Given the description of an element on the screen output the (x, y) to click on. 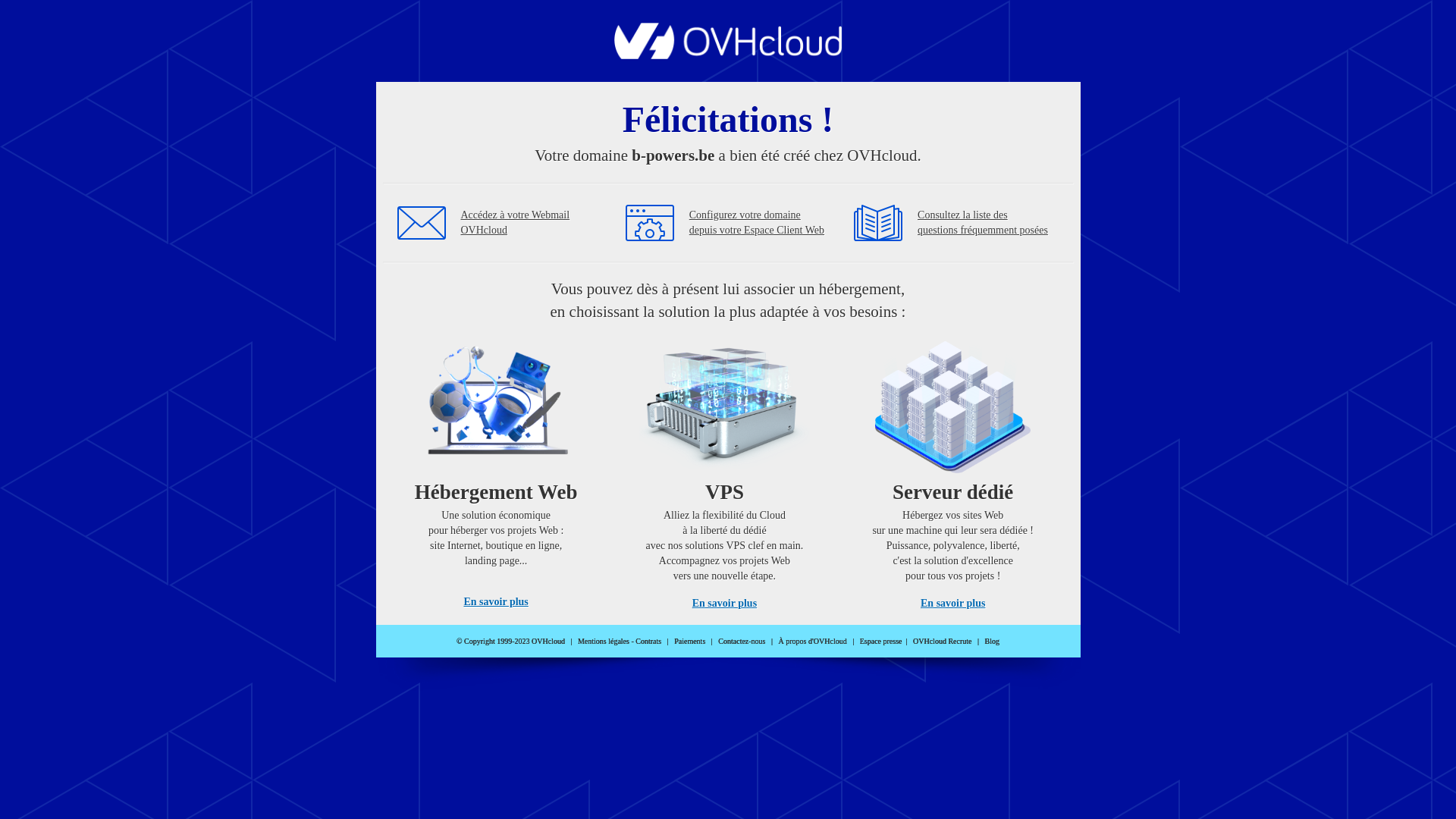
Blog Element type: text (992, 641)
Paiements Element type: text (689, 641)
En savoir plus Element type: text (495, 601)
OVHcloud Recrute Element type: text (942, 641)
OVHcloud Element type: hover (727, 54)
Configurez votre domaine
depuis votre Espace Client Web Element type: text (756, 222)
Espace presse Element type: text (880, 641)
VPS Element type: hover (724, 469)
Contactez-nous Element type: text (741, 641)
En savoir plus Element type: text (952, 602)
En savoir plus Element type: text (724, 602)
